Given the description of an element on the screen output the (x, y) to click on. 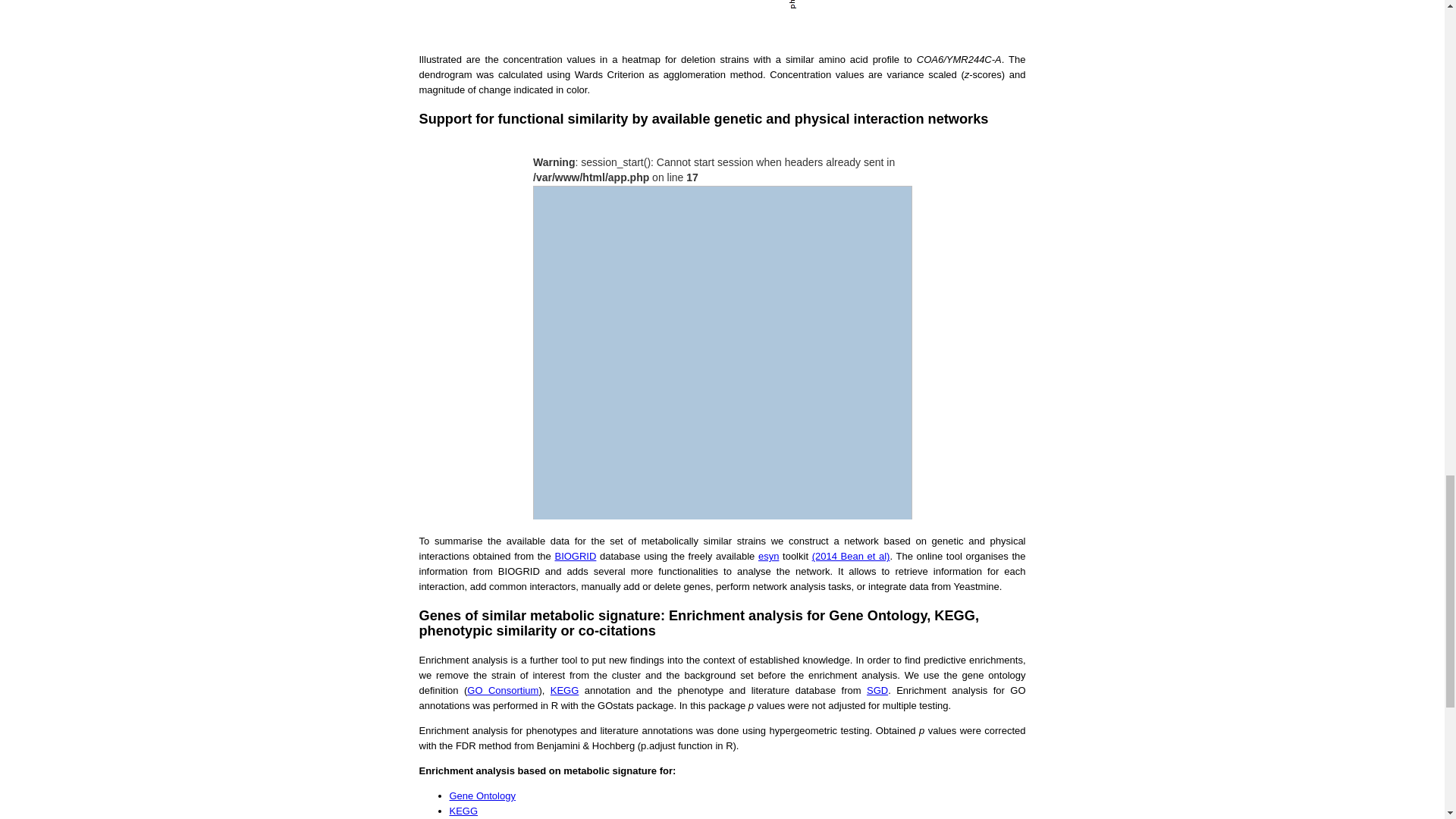
BIOGRID (574, 555)
KEGG (564, 690)
KEGG (462, 810)
GO Consortium (502, 690)
Gene Ontology (481, 795)
